Given the description of an element on the screen output the (x, y) to click on. 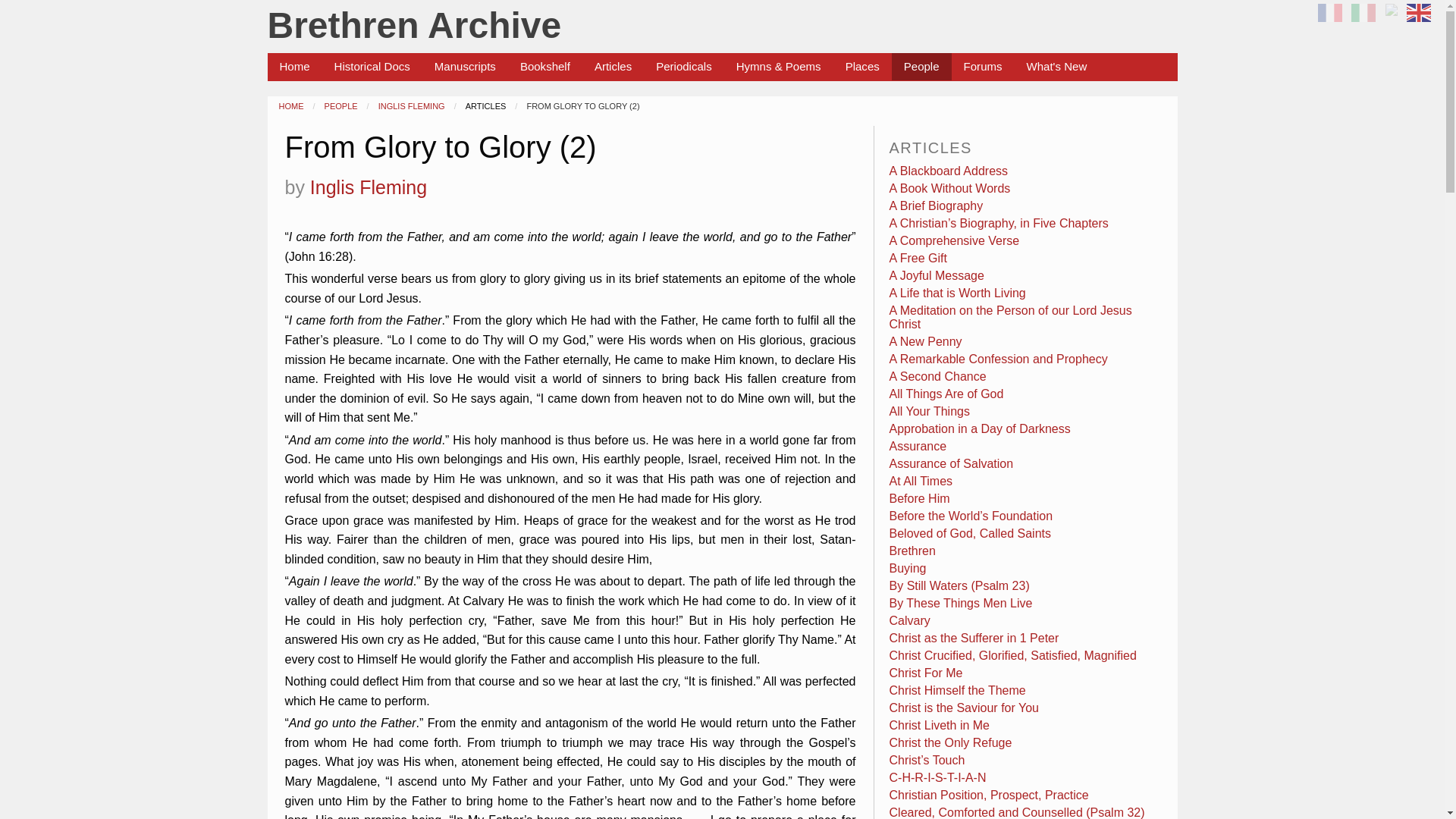
A Remarkable Confession and Prophecy (998, 358)
Manuscripts (465, 66)
A New Penny (925, 341)
A Free Gift (918, 257)
Spanish (1393, 17)
Italian (1364, 17)
French (1331, 17)
A Brief Biography (936, 205)
People (921, 66)
A Book Without Words (949, 187)
